Given the description of an element on the screen output the (x, y) to click on. 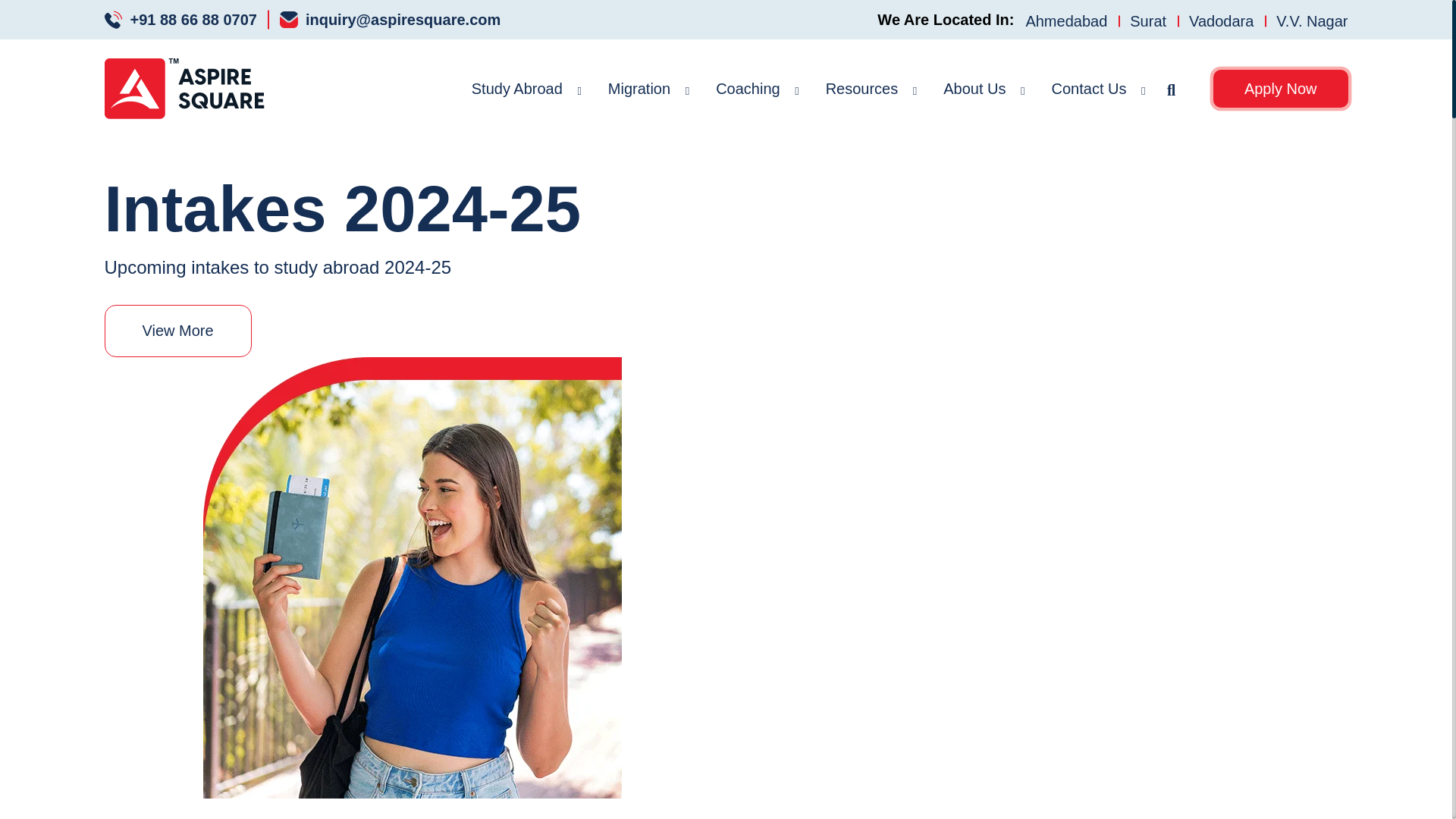
V.V. Nagar (1306, 20)
Vadodara (1221, 20)
Migration (638, 88)
Surat (1147, 20)
Ahmedabad (1065, 20)
Study Abroad (516, 88)
